Given the description of an element on the screen output the (x, y) to click on. 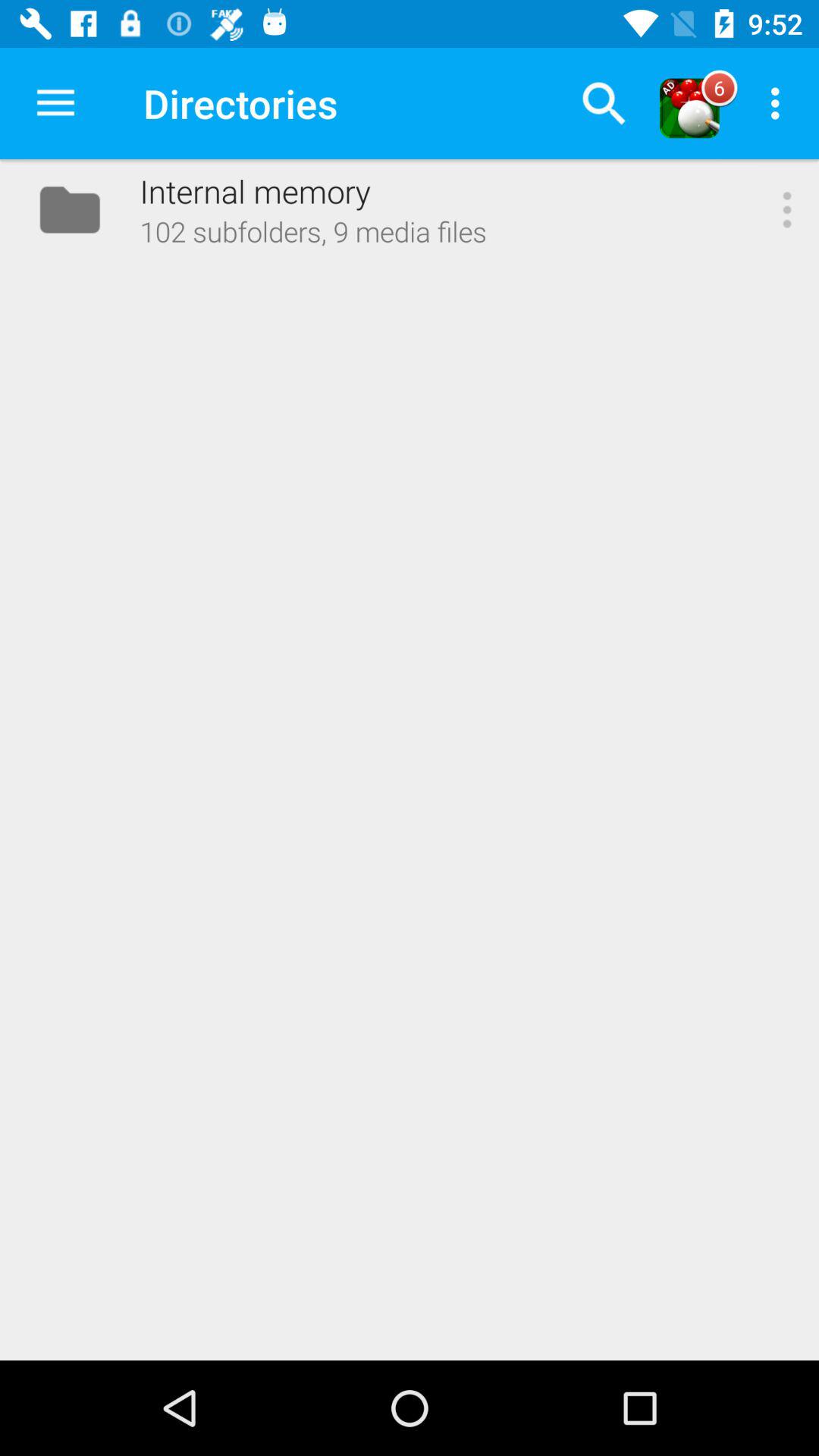
tap the item to the right of 102 subfolders 9 item (787, 209)
